Given the description of an element on the screen output the (x, y) to click on. 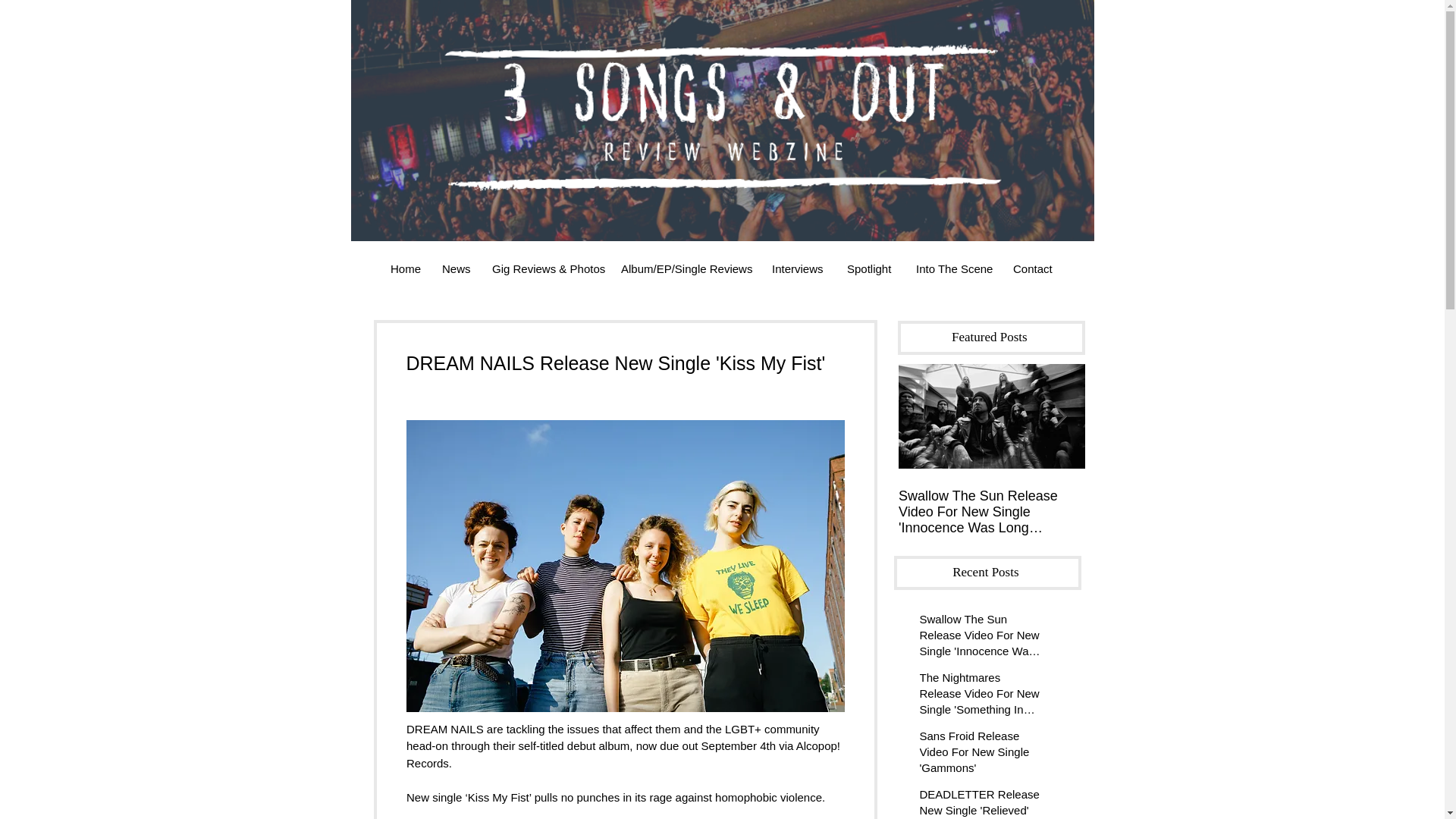
News (455, 268)
Into The Scene (952, 268)
Home (404, 268)
Sans Froid Release Video For New Single 'Gammons' (980, 755)
DEADLETTER Release New Single 'Relieved' (980, 802)
Interviews (797, 268)
Spotlight (869, 268)
Contact (1032, 268)
